Given the description of an element on the screen output the (x, y) to click on. 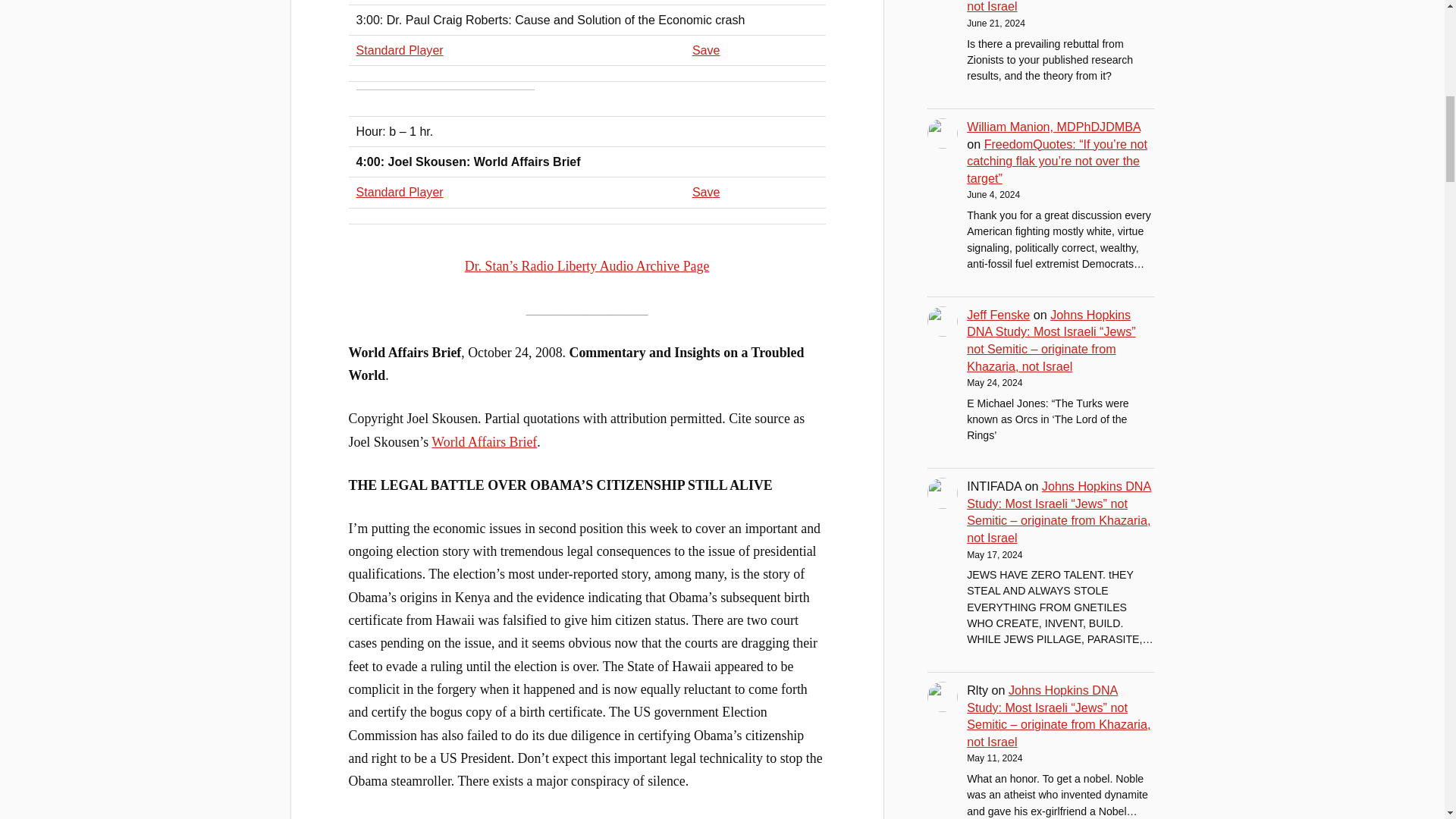
Standard Player (400, 192)
Save (706, 49)
Standard Player (400, 49)
World Affairs Brief (483, 441)
Save (706, 192)
